Given the description of an element on the screen output the (x, y) to click on. 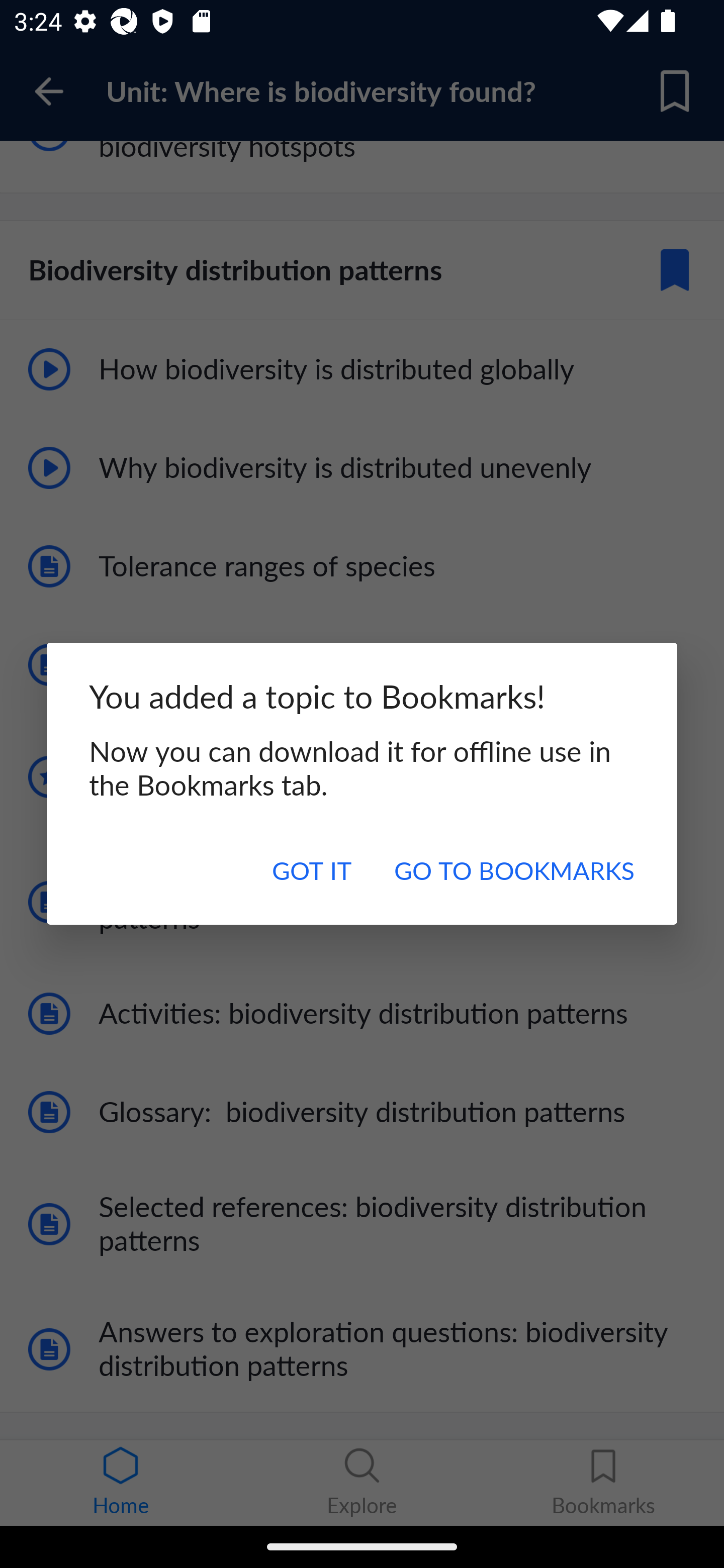
GOT IT (311, 870)
GO TO BOOKMARKS (513, 870)
